Given the description of an element on the screen output the (x, y) to click on. 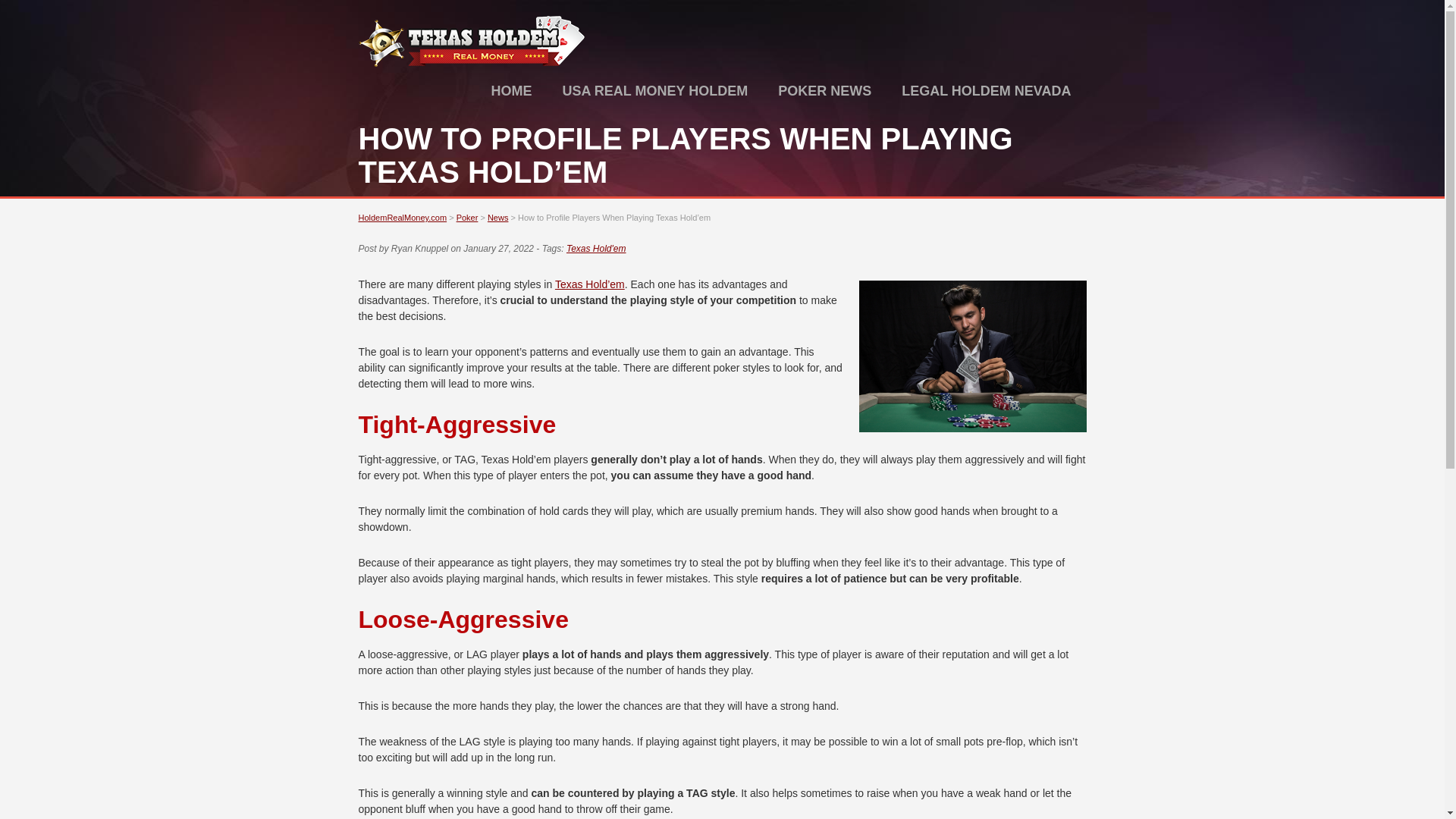
Go to HoldemRealMoney.com. (402, 216)
HoldemRealMoney.com (402, 216)
Go to HoldemRealMoney.com News. (497, 216)
POKER NEWS (823, 90)
Poker (468, 216)
Go to the Poker category archives. (468, 216)
News (497, 216)
HoldemRealMoney.com (471, 63)
USA REAL MONEY HOLDEM (655, 90)
Texas Hold'em (596, 248)
